Given the description of an element on the screen output the (x, y) to click on. 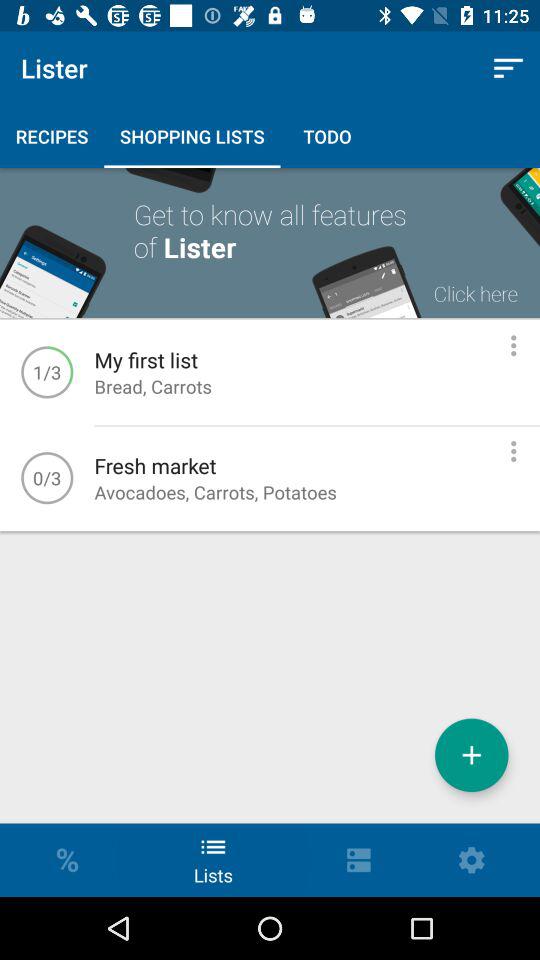
turn on the icon below avocadoes, carrots, potatoes item (471, 754)
